Given the description of an element on the screen output the (x, y) to click on. 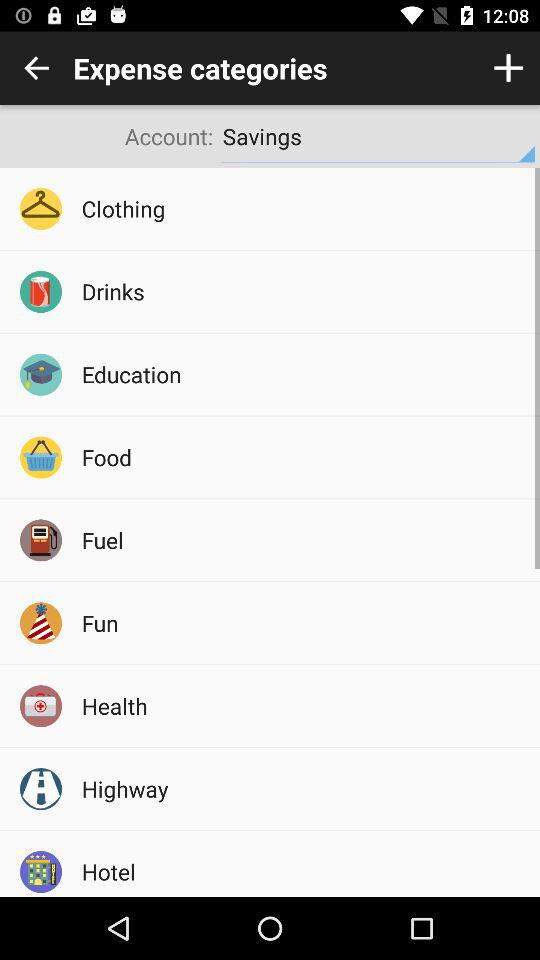
turn off item below the highway item (303, 871)
